Given the description of an element on the screen output the (x, y) to click on. 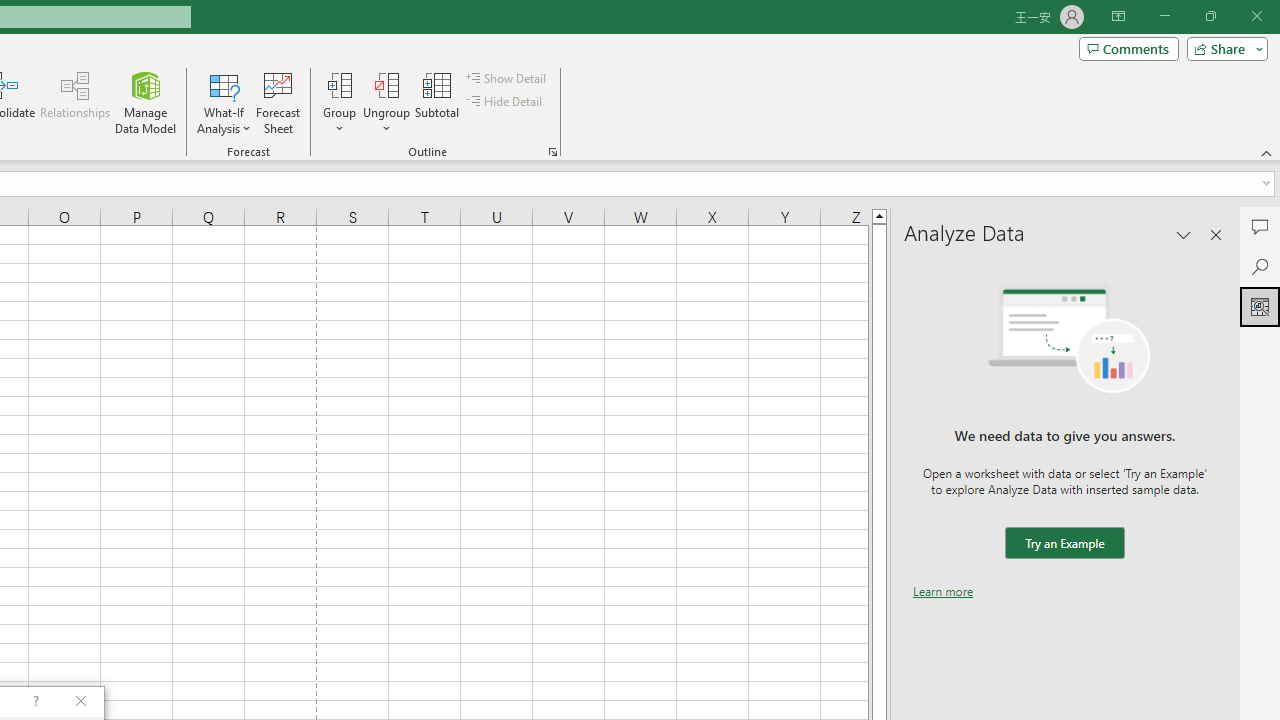
Show Detail (507, 78)
What-If Analysis (223, 102)
Search (1260, 266)
Hide Detail (505, 101)
